Given the description of an element on the screen output the (x, y) to click on. 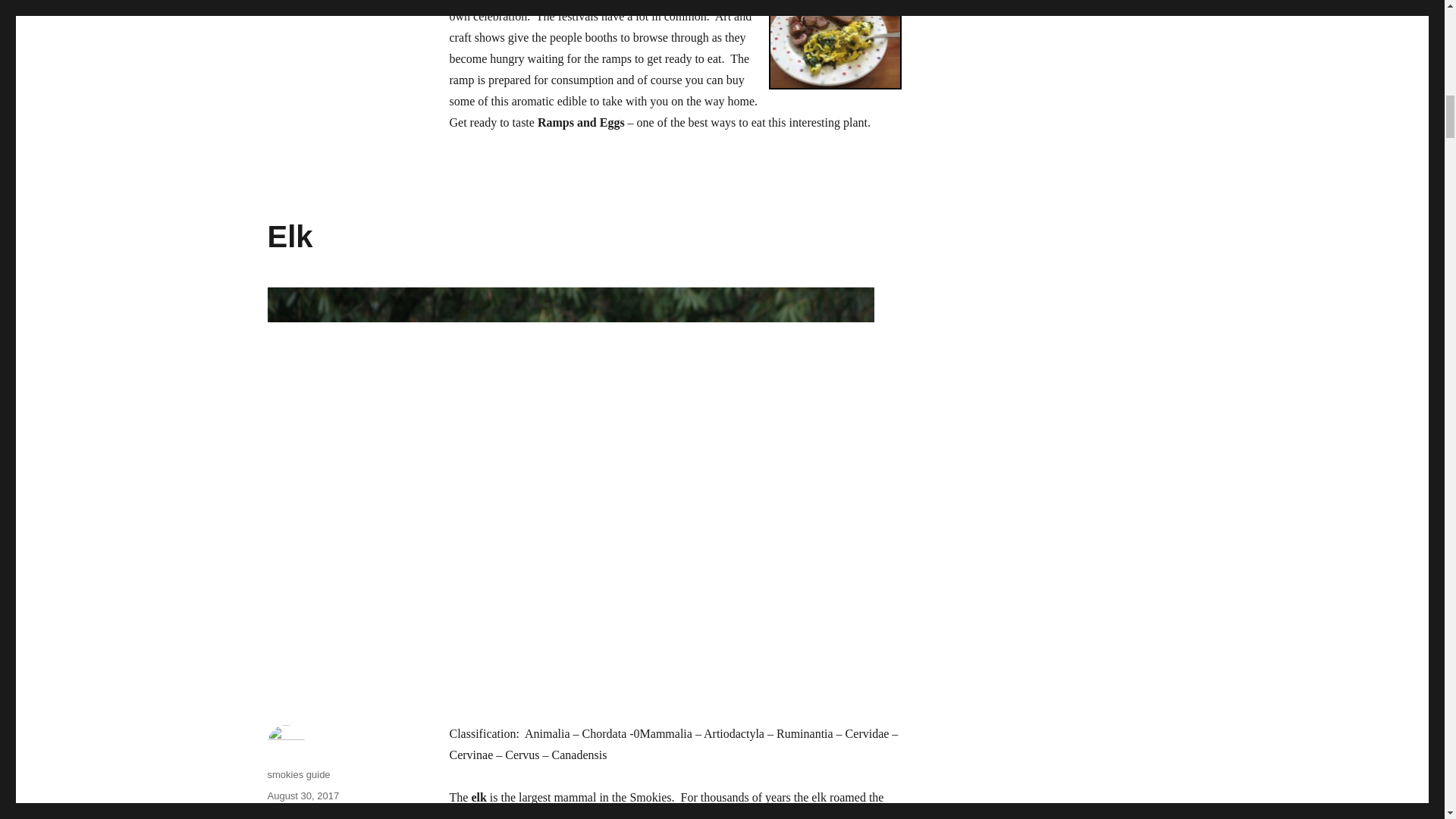
smokies guide (298, 774)
Elk (289, 236)
Cosby, TN (538, 0)
Cosby, TN (538, 0)
ramps and eggs (834, 44)
GSMNP (284, 815)
Waynesville, NC (629, 0)
Waynesville, NC (629, 0)
August 30, 2017 (302, 795)
